Given the description of an element on the screen output the (x, y) to click on. 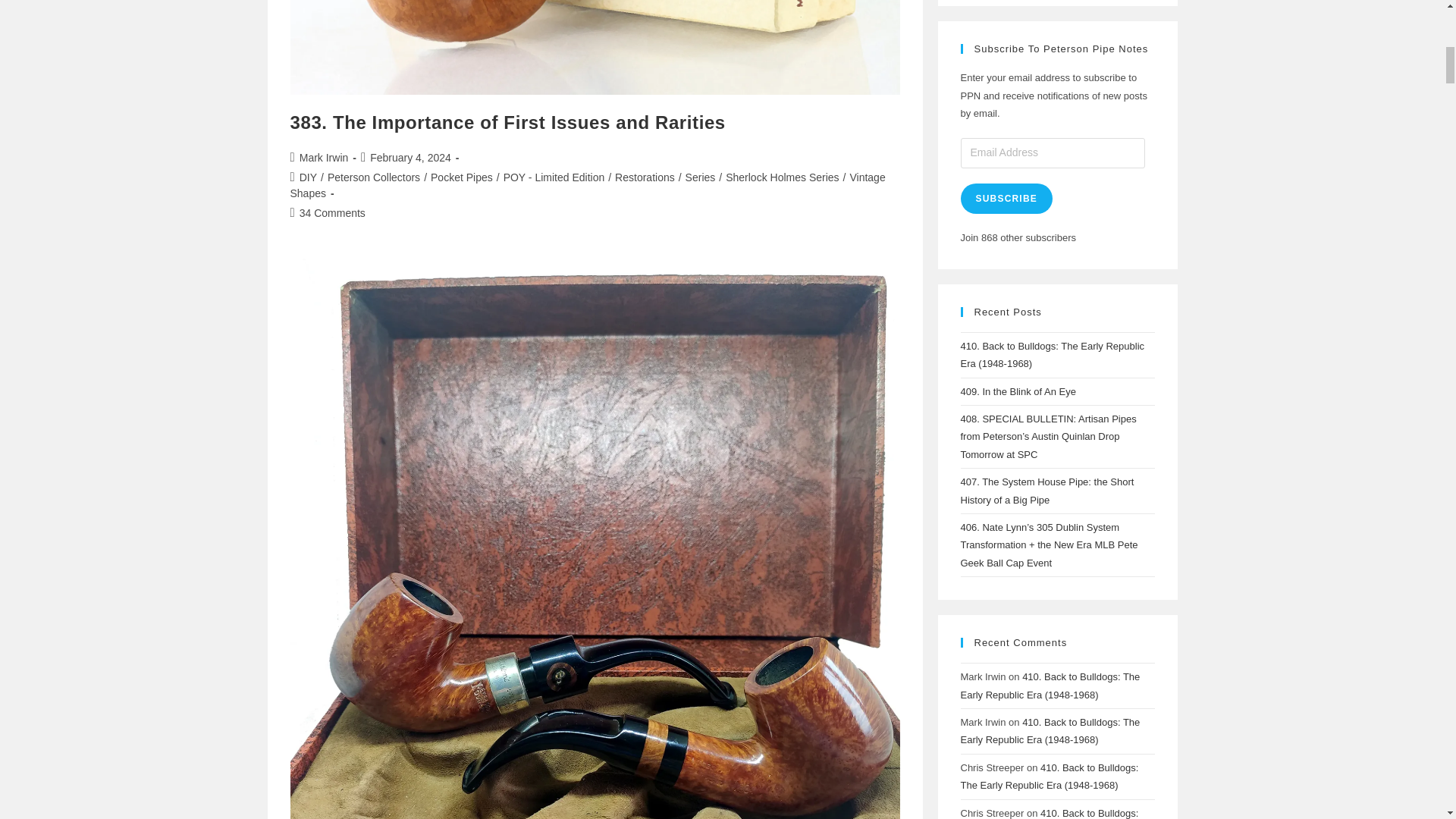
Pocket Pipes (461, 177)
383. The Importance of First Issues and Rarities (507, 122)
Sherlock Holmes Series (781, 177)
POY - Limited Edition (554, 177)
Vintage Shapes (587, 185)
Series (700, 177)
34 Comments (332, 213)
Peterson Collectors (373, 177)
Mark Irwin (324, 157)
Restorations (644, 177)
